Given the description of an element on the screen output the (x, y) to click on. 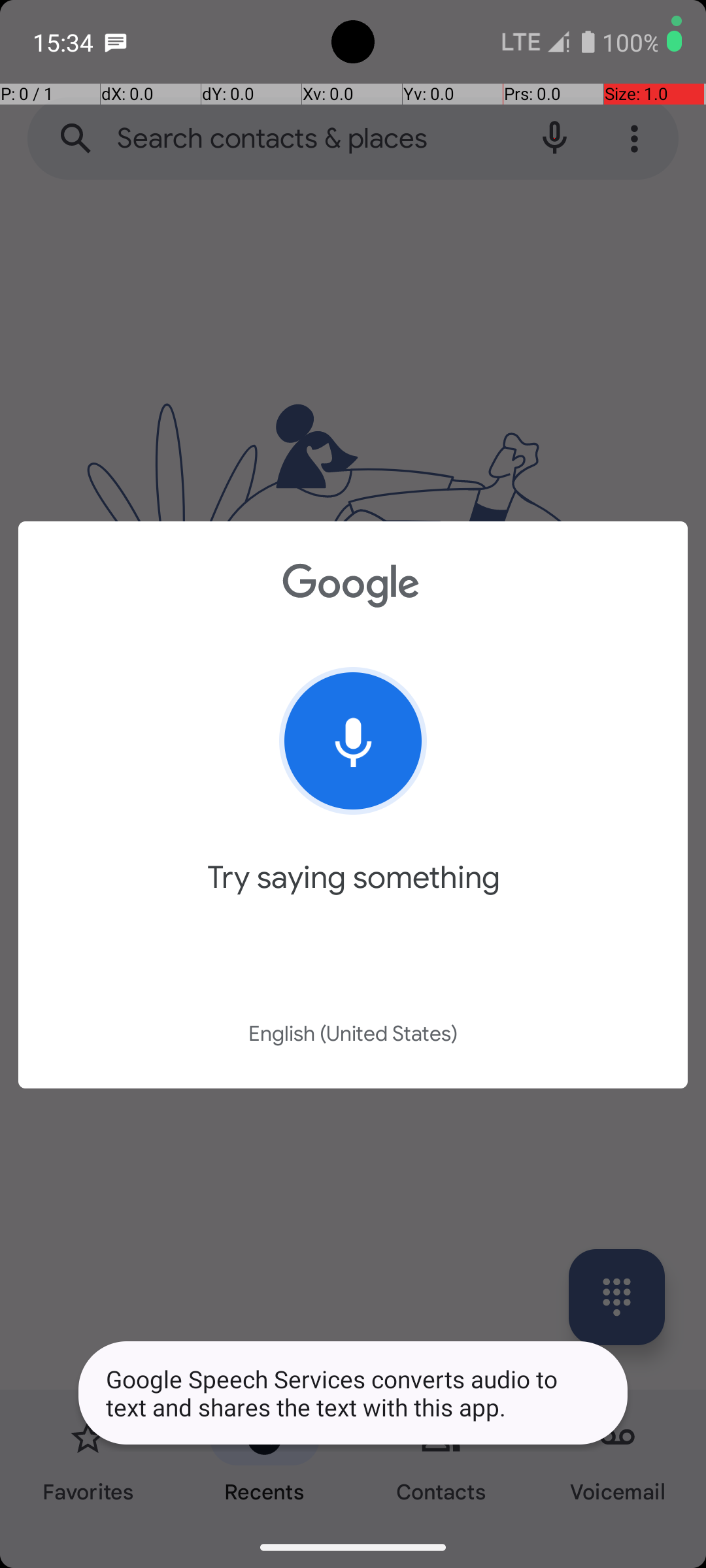
Applications are using your microphone. Element type: android.widget.FrameLayout (633, 41)
